Given the description of an element on the screen output the (x, y) to click on. 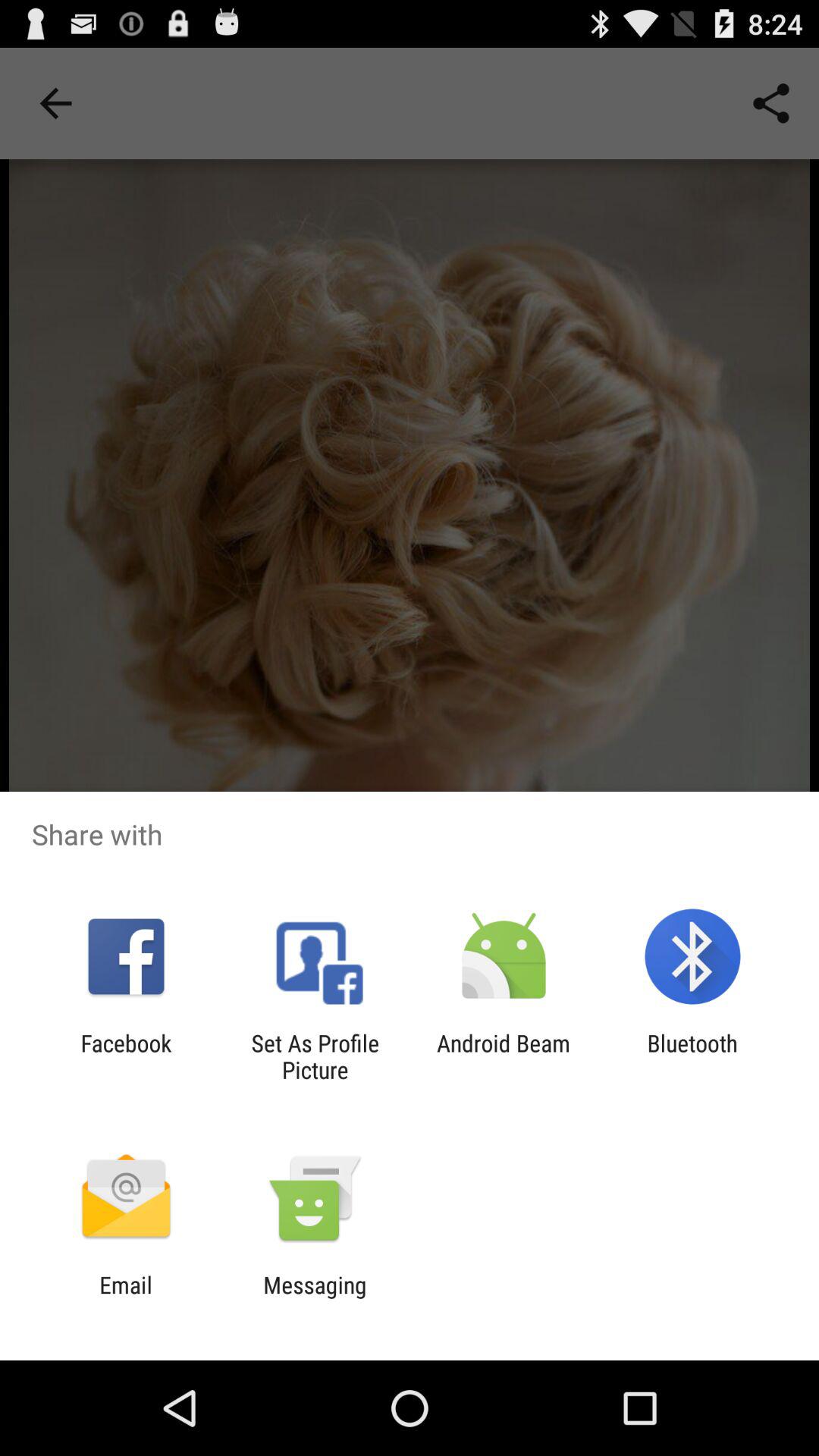
turn off set as profile app (314, 1056)
